Given the description of an element on the screen output the (x, y) to click on. 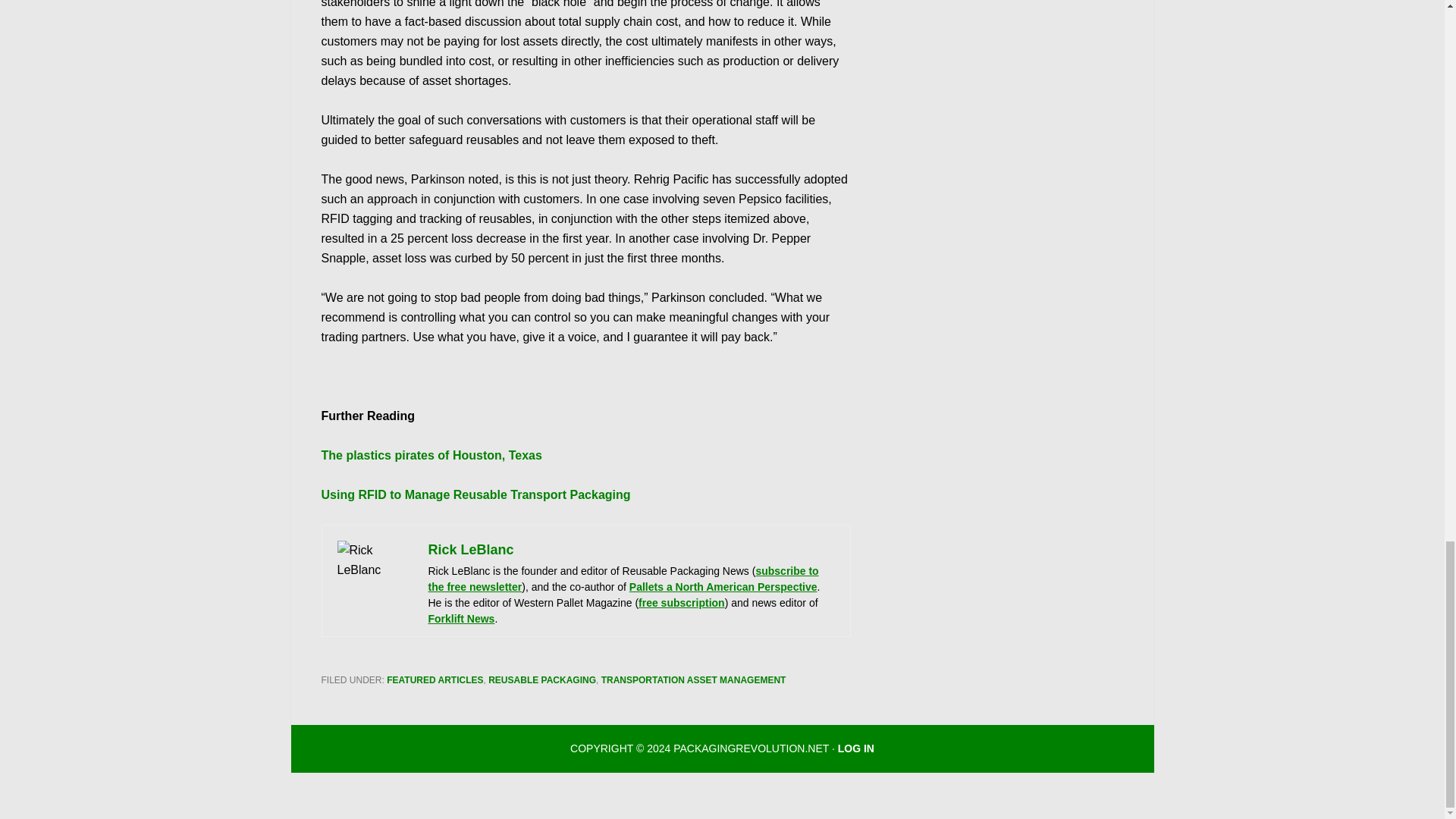
Pallets a North American Perspective (722, 586)
Forklift News (461, 618)
subscribe to the free newsletter (623, 578)
free subscription (682, 603)
TRANSPORTATION ASSET MANAGEMENT (693, 679)
Prevent Reusable Asset Loss by Giving Reusables a Voice 3 (374, 578)
FEATURED ARTICLES (435, 679)
Using RFID to Manage Reusable Transport Packaging (475, 494)
Rick LeBlanc (470, 549)
The plastics pirates of Houston, Texas (431, 454)
REUSABLE PACKAGING (541, 679)
